Given the description of an element on the screen output the (x, y) to click on. 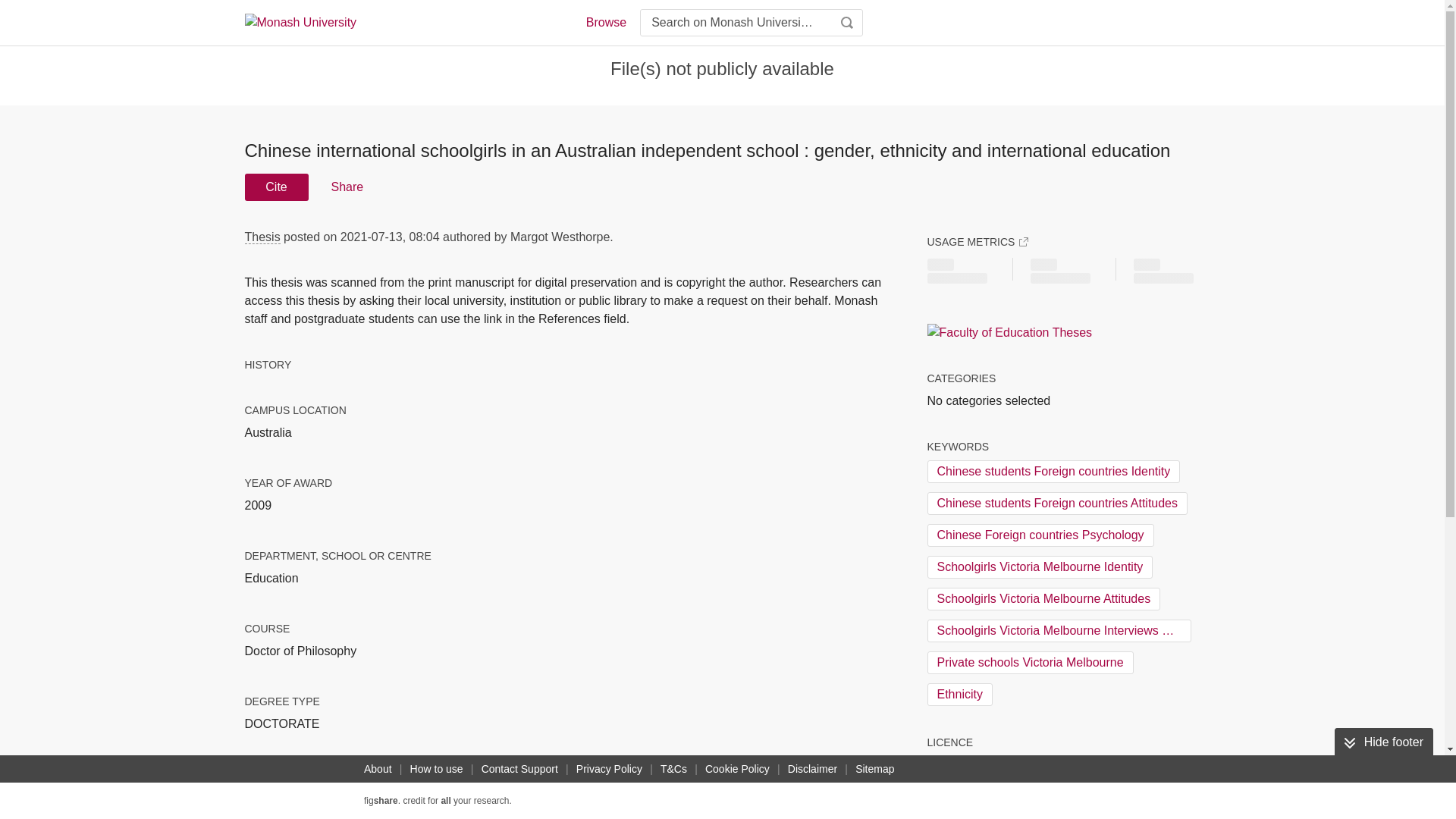
Share (346, 186)
How to use (436, 769)
Privacy Policy (609, 769)
Private schools Victoria Melbourne (1029, 662)
Browse (605, 22)
Schoolgirls Victoria Melbourne Attitudes (1043, 599)
Schoolgirls Victoria Melbourne Identity (1039, 567)
Chinese students Foreign countries Identity (1052, 471)
Sitemap (874, 769)
Ethnicity (958, 694)
